Given the description of an element on the screen output the (x, y) to click on. 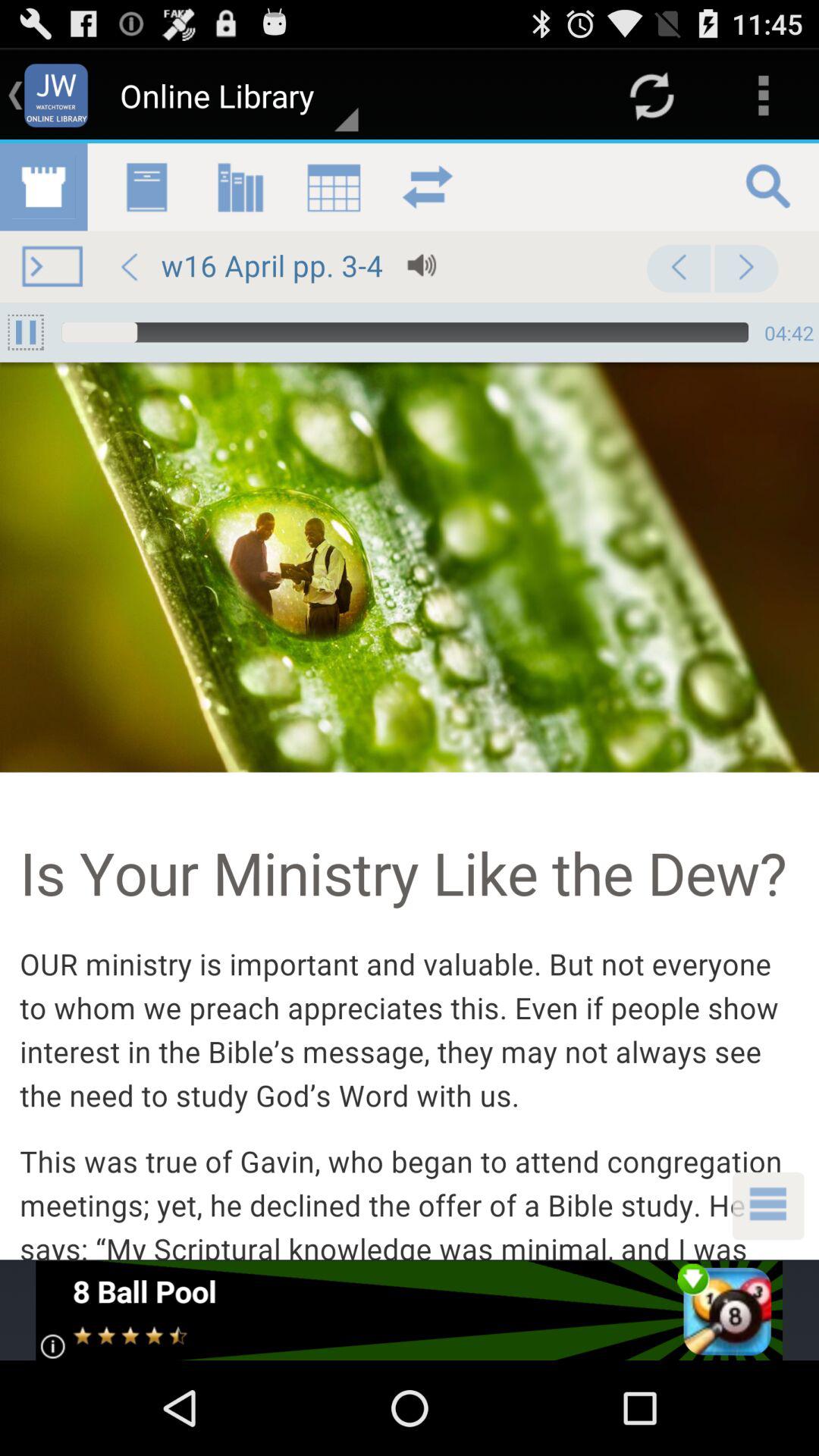
click to view advertisements (408, 1310)
